Given the description of an element on the screen output the (x, y) to click on. 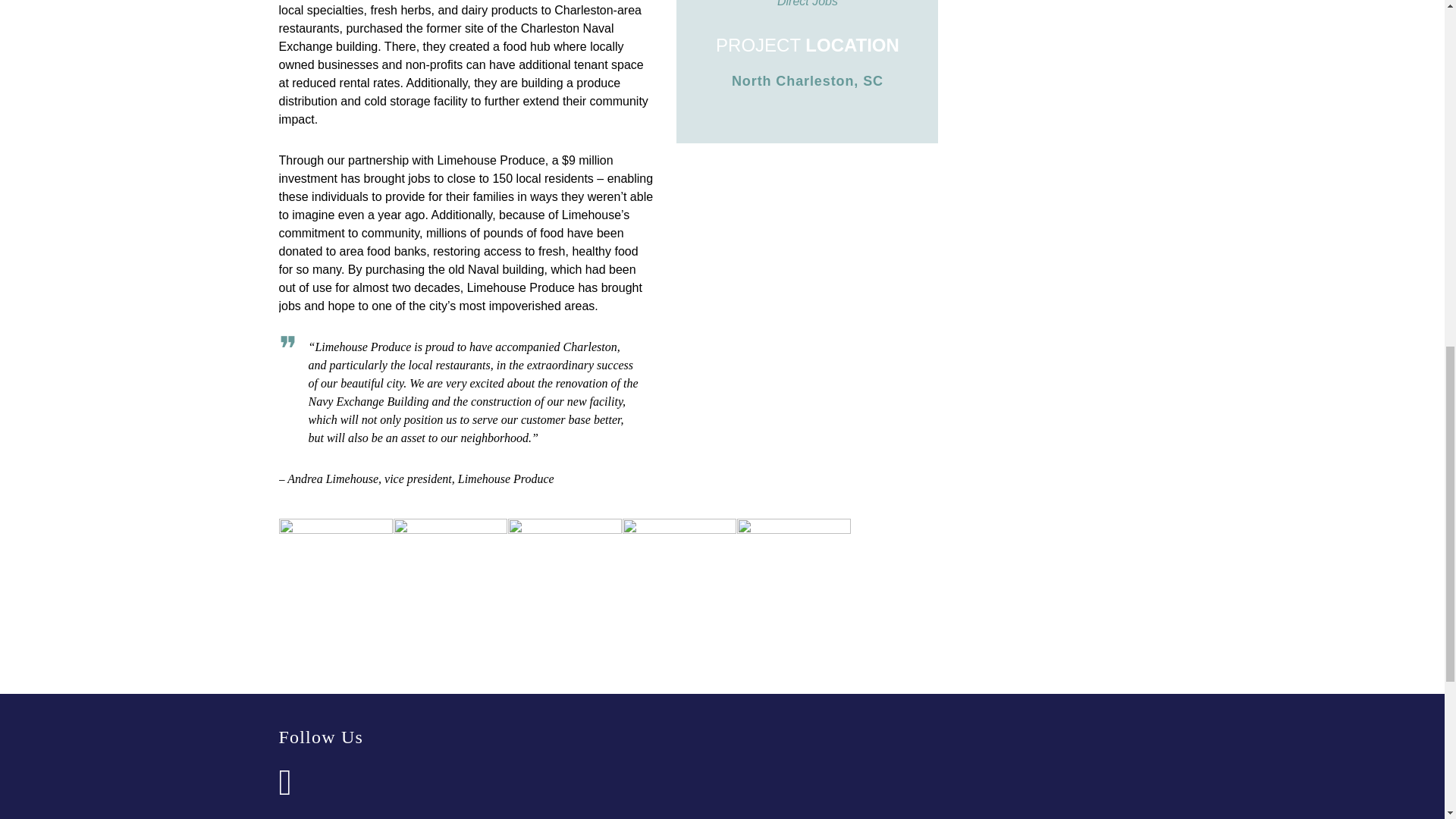
Limehouse-grown-ad1 (449, 575)
externships-limehouse (336, 575)
GHP-HarvestDinner2013-201 (564, 575)
Limehouse-Produce-logo-ad1 (678, 575)
